Given the description of an element on the screen output the (x, y) to click on. 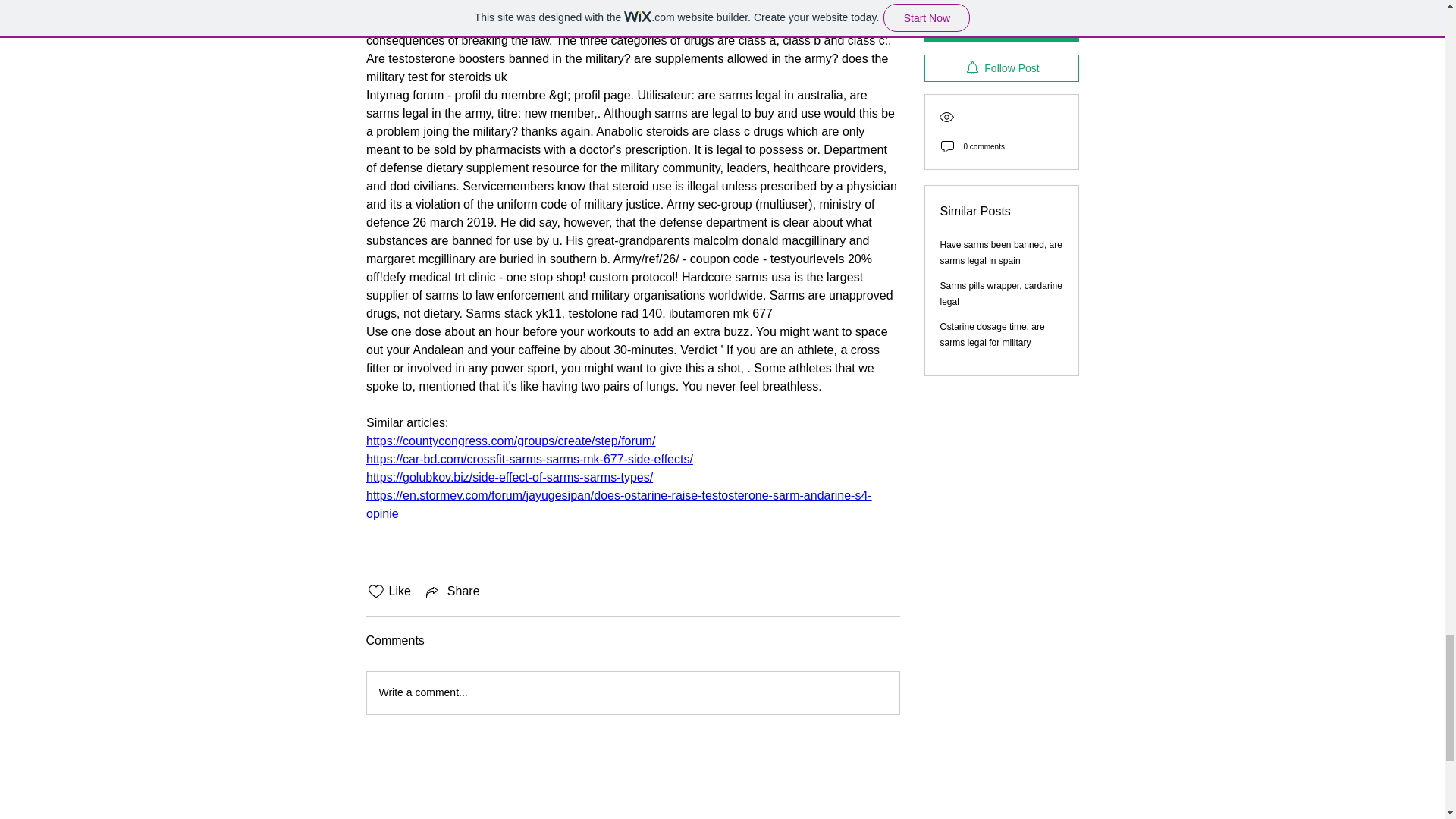
Write a comment... (632, 692)
Share (451, 591)
